Given the description of an element on the screen output the (x, y) to click on. 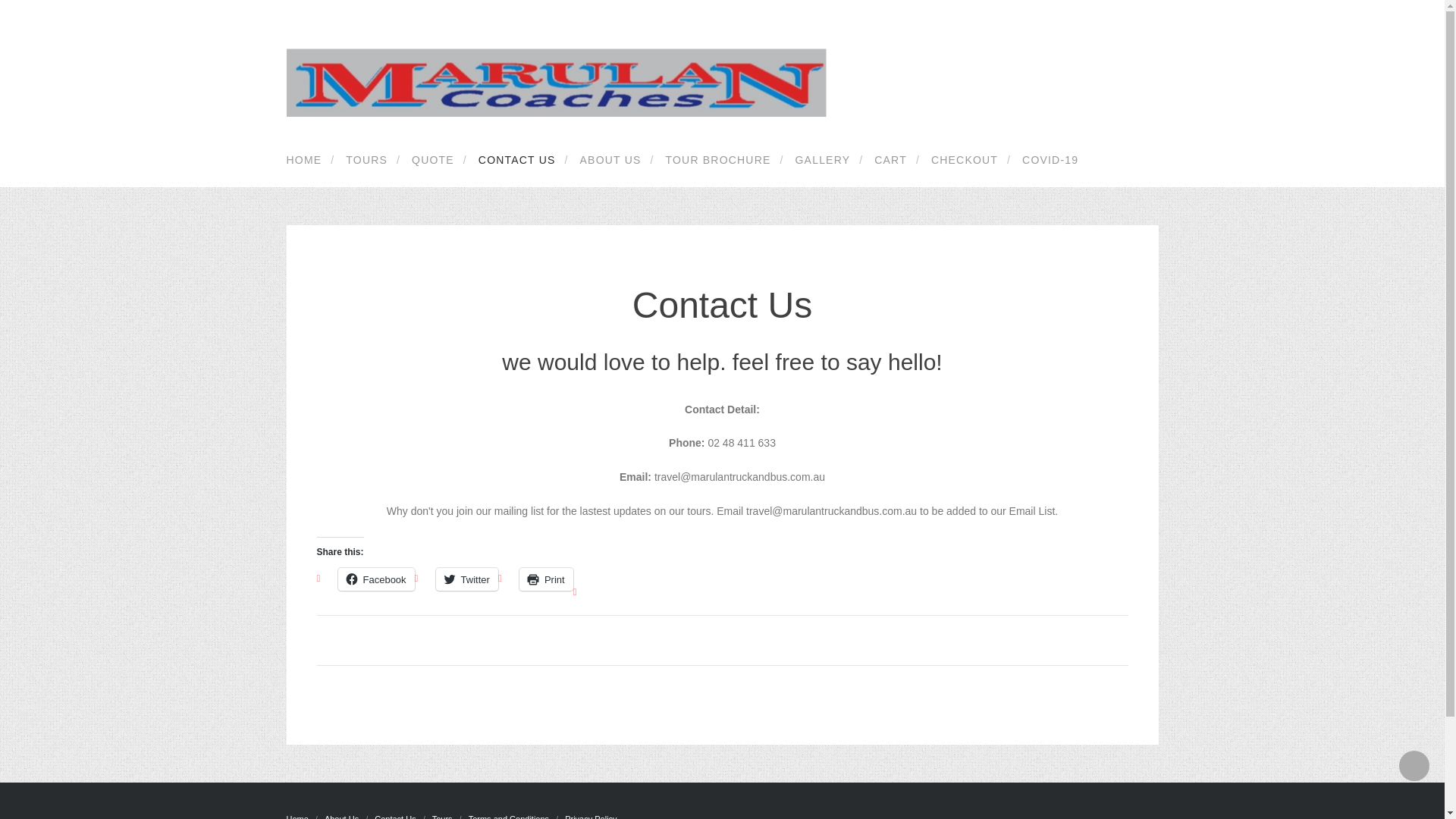
CART Element type: text (887, 159)
Print Element type: text (546, 578)
TOURS Element type: text (363, 159)
COVID-19 Element type: text (1047, 159)
Twitter Element type: text (467, 578)
CONTACT US Element type: text (513, 159)
Facebook Element type: text (376, 578)
GALLERY Element type: text (819, 159)
CHECKOUT Element type: text (961, 159)
ABOUT US Element type: text (607, 159)
QUOTE Element type: text (429, 159)
HOME Element type: text (308, 159)
TOUR BROCHURE Element type: text (714, 159)
